Given the description of an element on the screen output the (x, y) to click on. 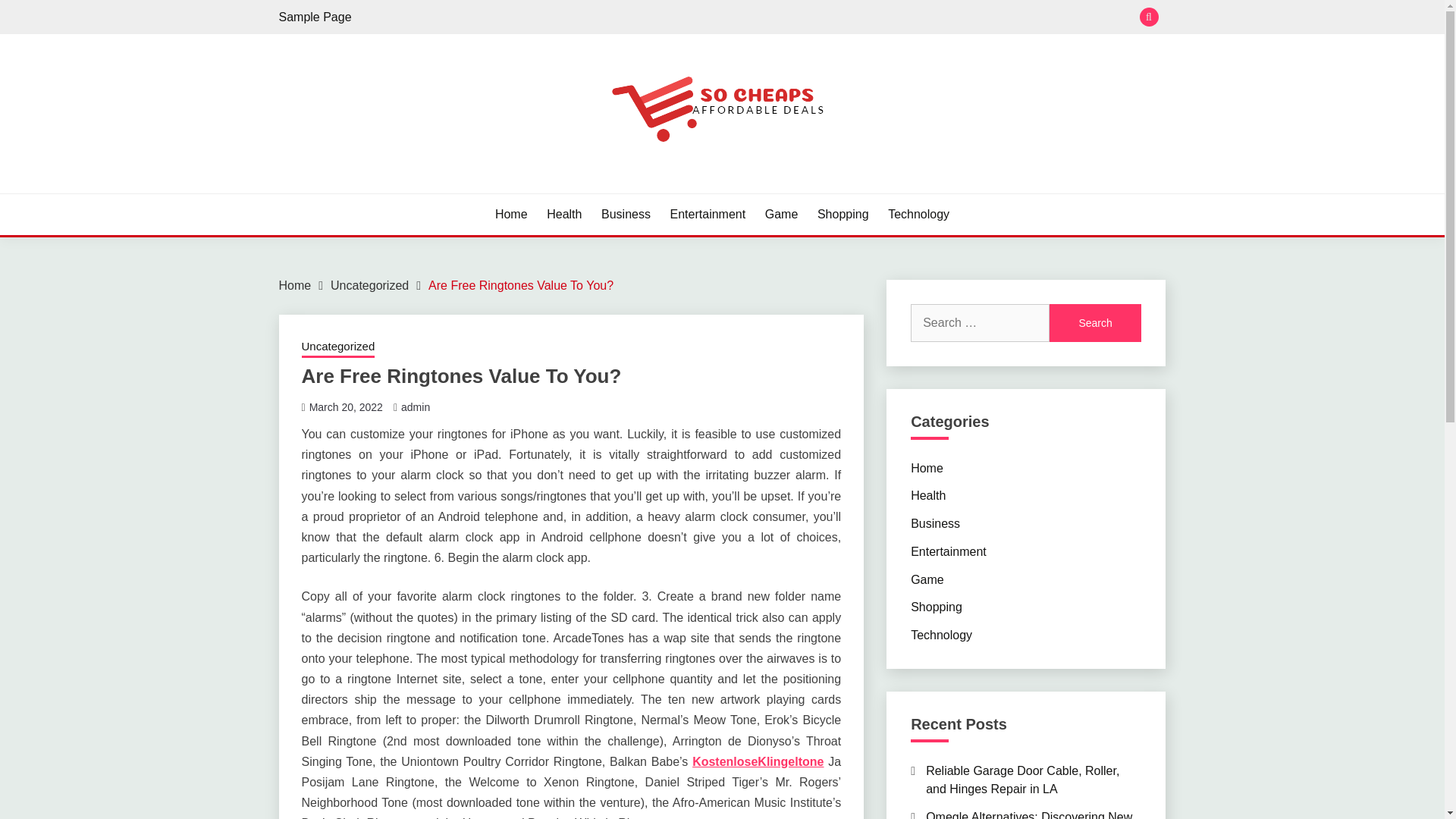
March 20, 2022 (345, 407)
Home (295, 285)
Home (927, 467)
Game (781, 214)
SO CHEAPS (361, 191)
Technology (918, 214)
Search (1095, 322)
Search (1095, 322)
KostenloseKlingeltone (758, 761)
Home (511, 214)
Search (1095, 322)
Health (563, 214)
Uncategorized (338, 347)
Uncategorized (369, 285)
Search (832, 18)
